Given the description of an element on the screen output the (x, y) to click on. 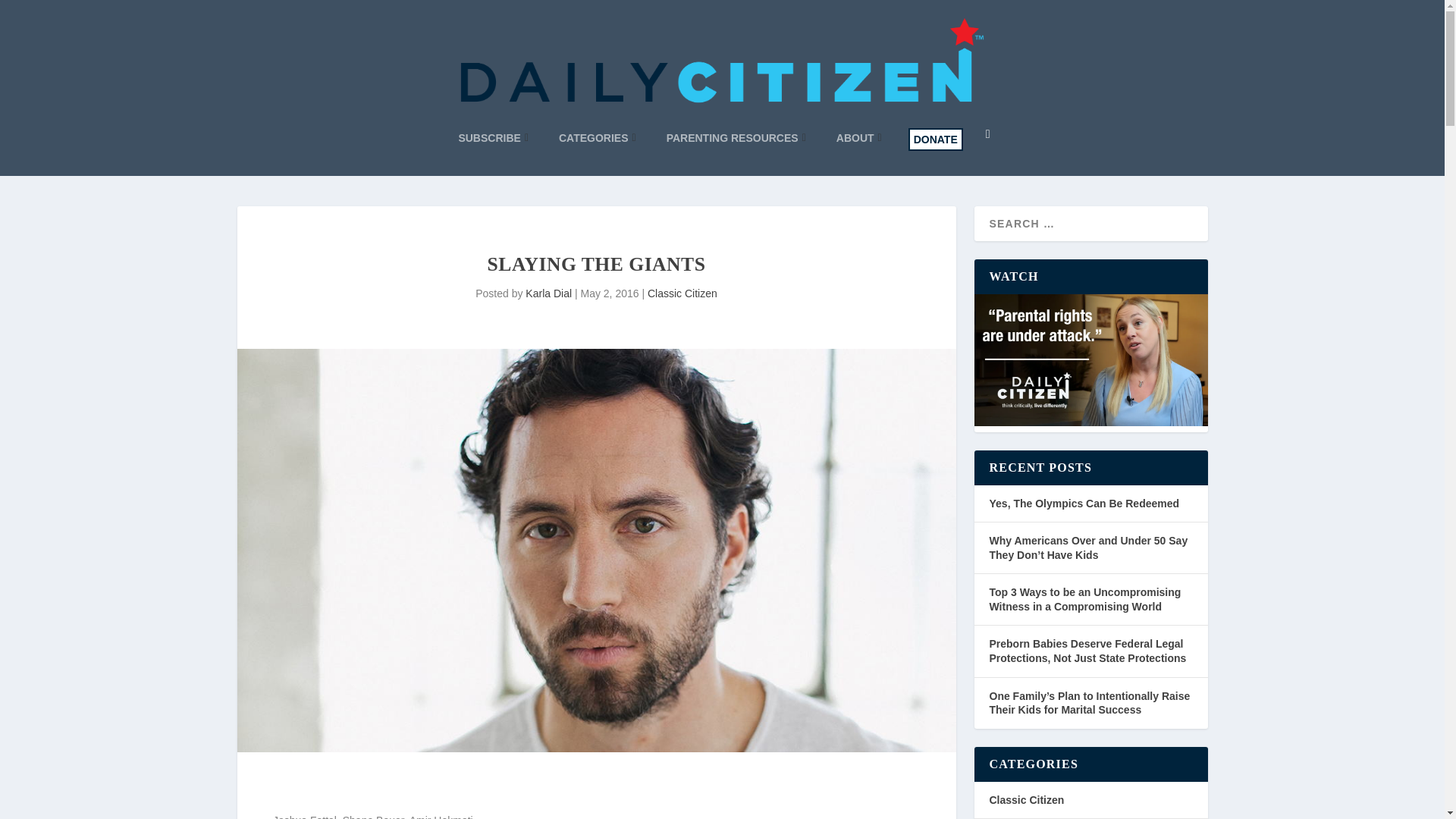
DONATE (935, 138)
PARENTING RESOURCES (735, 137)
ABOUT (858, 137)
Posts by Karla Dial (548, 293)
CATEGORIES (597, 137)
Classic Citizen (682, 293)
Search (32, 15)
SUBSCRIBE (493, 137)
Karla Dial (548, 293)
WATCH (1090, 359)
